Given the description of an element on the screen output the (x, y) to click on. 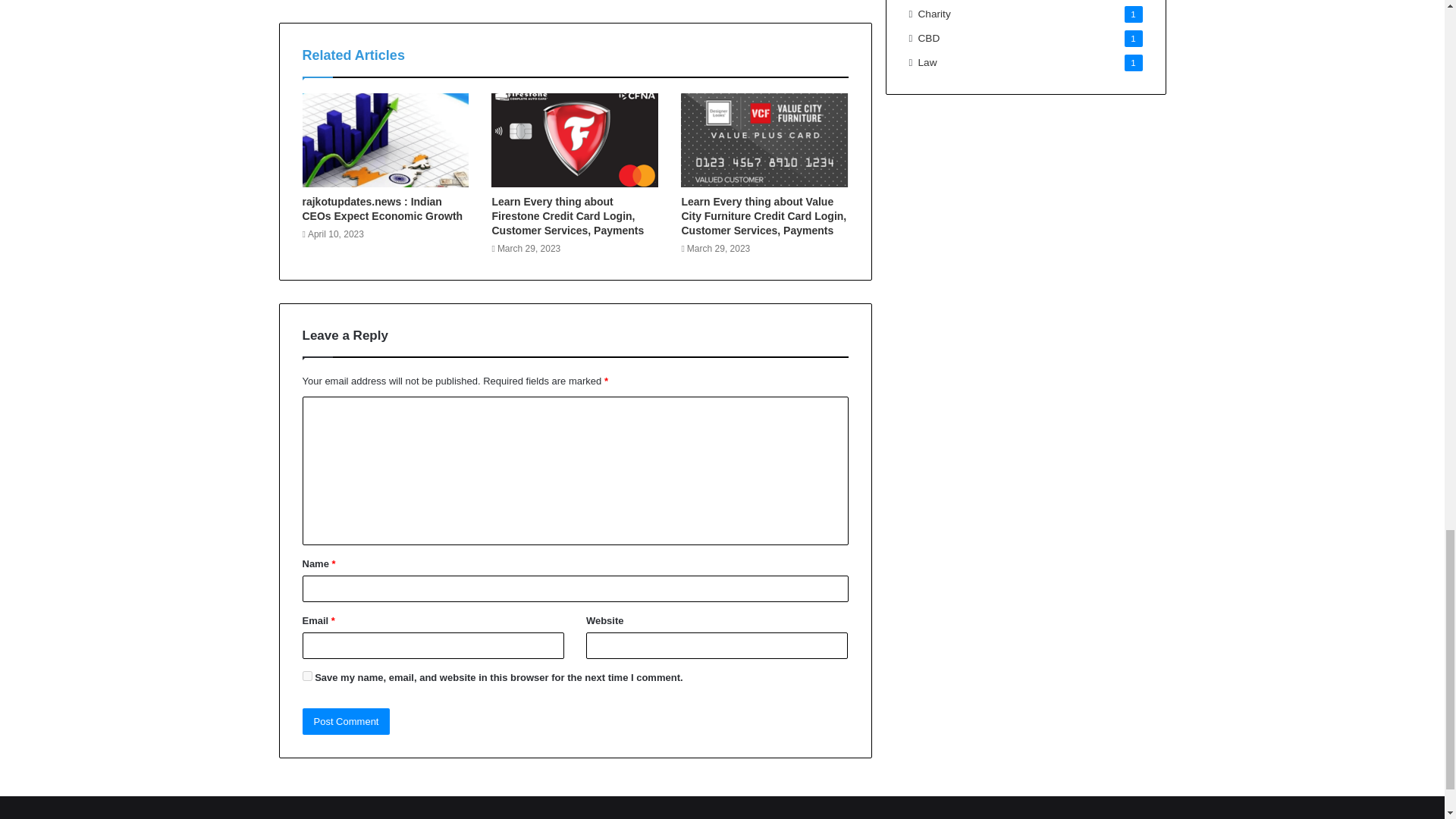
Post Comment (345, 721)
yes (306, 675)
